Given the description of an element on the screen output the (x, y) to click on. 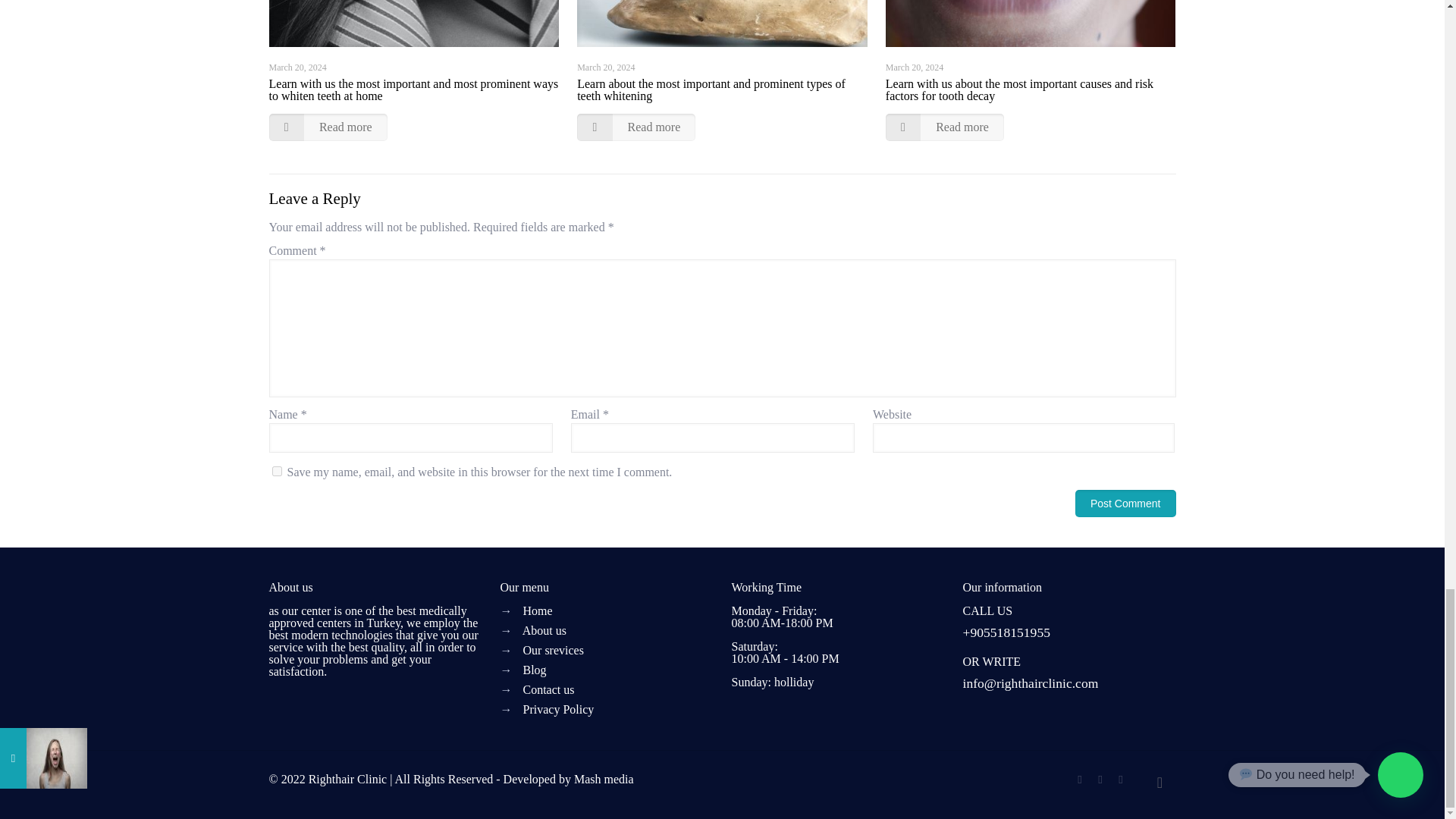
Twitter (1100, 779)
yes (275, 470)
Post Comment (1125, 502)
Read more (635, 126)
Instagram (1121, 779)
Facebook (1079, 779)
Read more (944, 126)
Read more (327, 126)
